Given the description of an element on the screen output the (x, y) to click on. 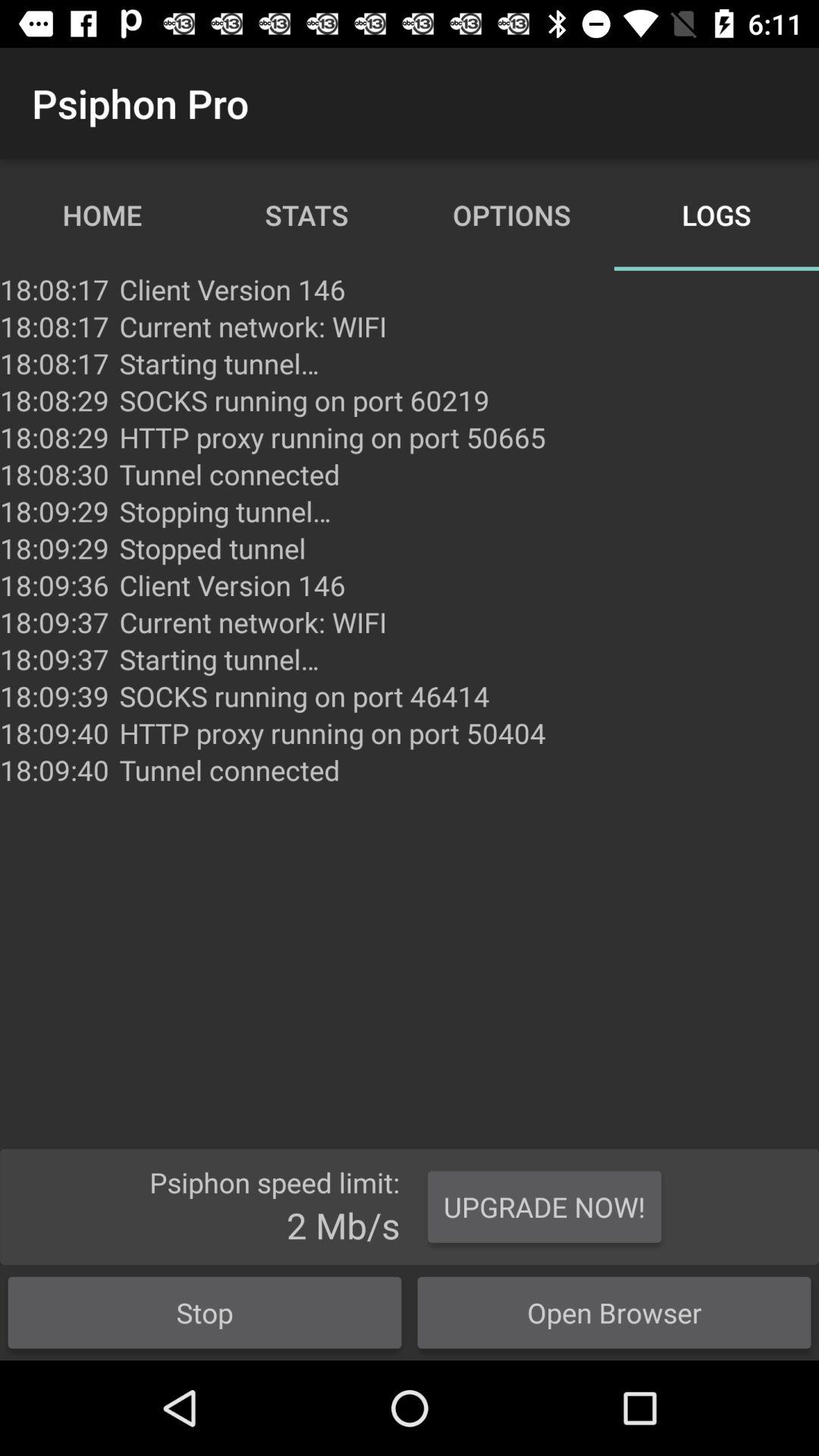
flip to the stop icon (204, 1312)
